Given the description of an element on the screen output the (x, y) to click on. 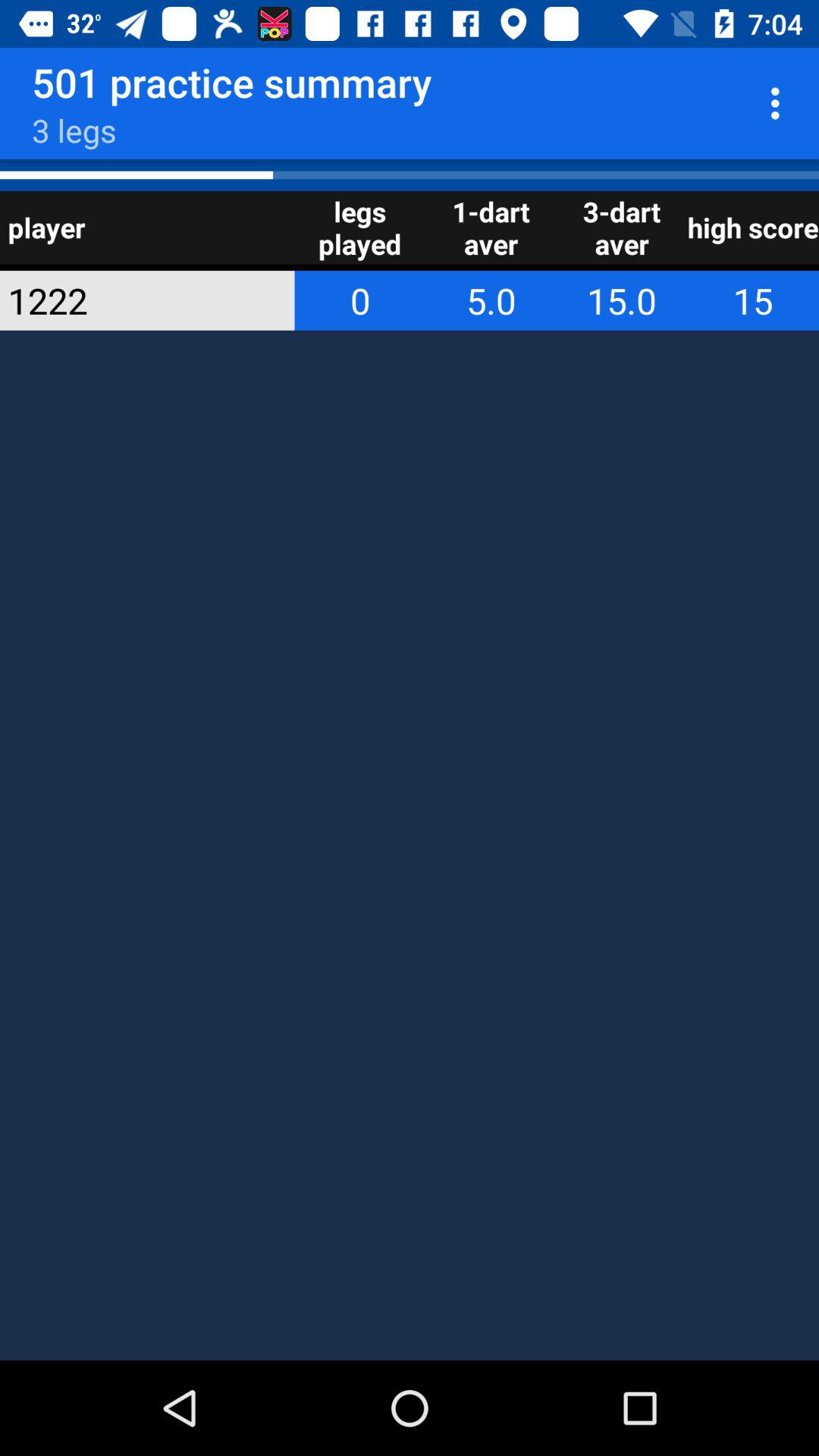
open app next to 501 practice summary (779, 103)
